Given the description of an element on the screen output the (x, y) to click on. 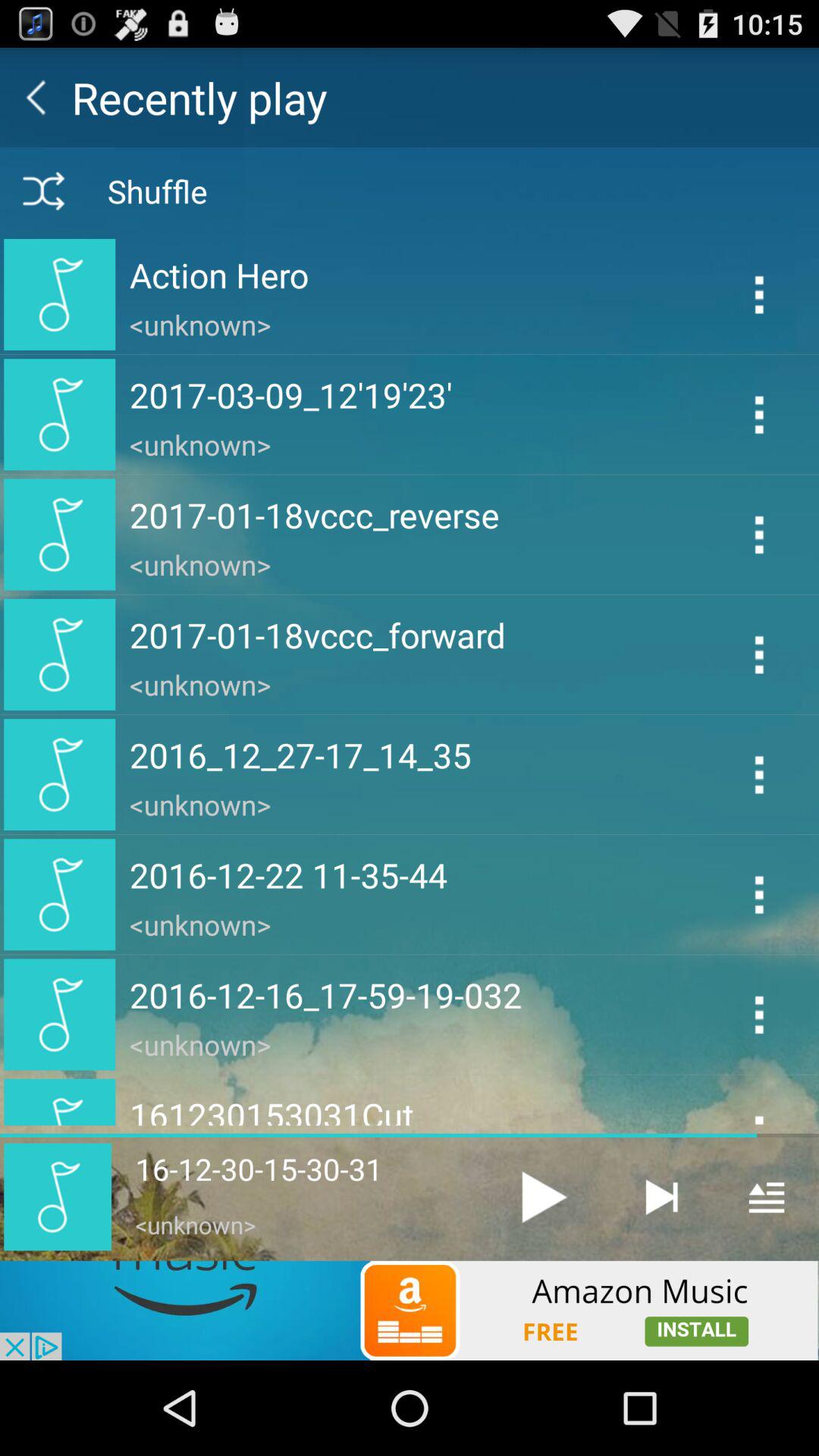
play next track (660, 1197)
